Given the description of an element on the screen output the (x, y) to click on. 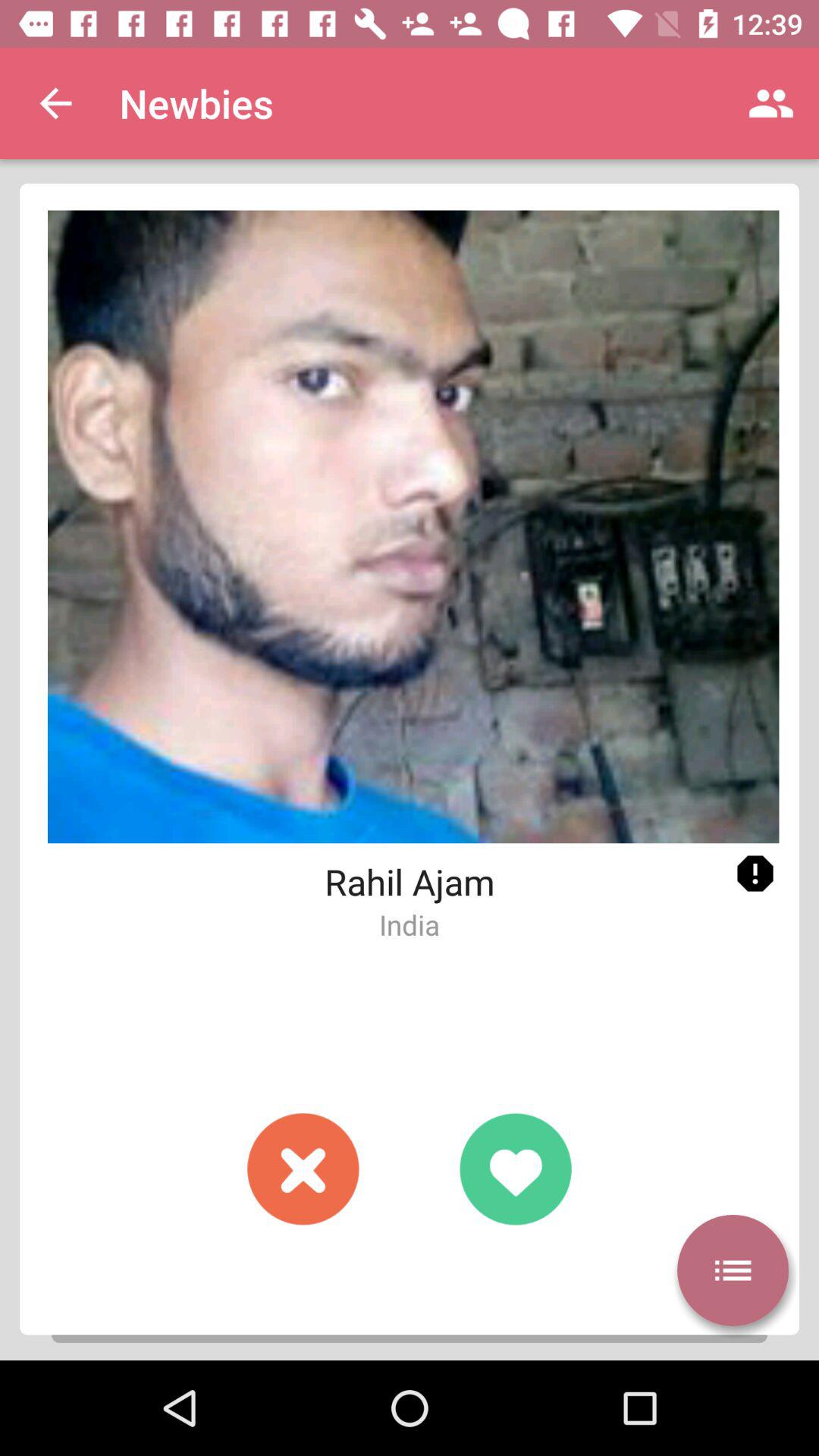
skip this result (303, 1169)
